Given the description of an element on the screen output the (x, y) to click on. 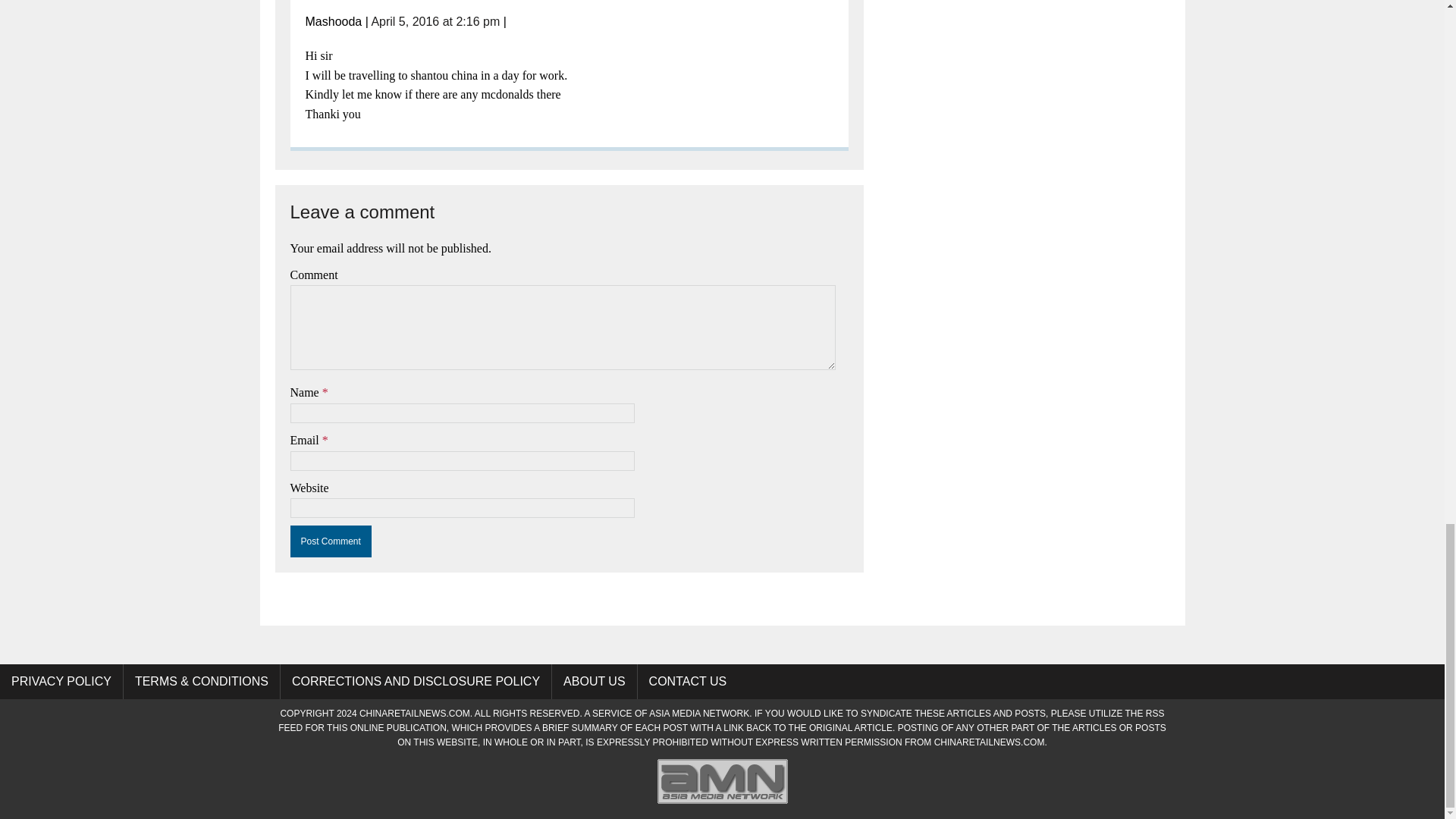
Asia Media Network (721, 802)
Asia Media Network (699, 713)
Post Comment (330, 541)
April 5, 2016 at 2:16 pm (435, 21)
